Given the description of an element on the screen output the (x, y) to click on. 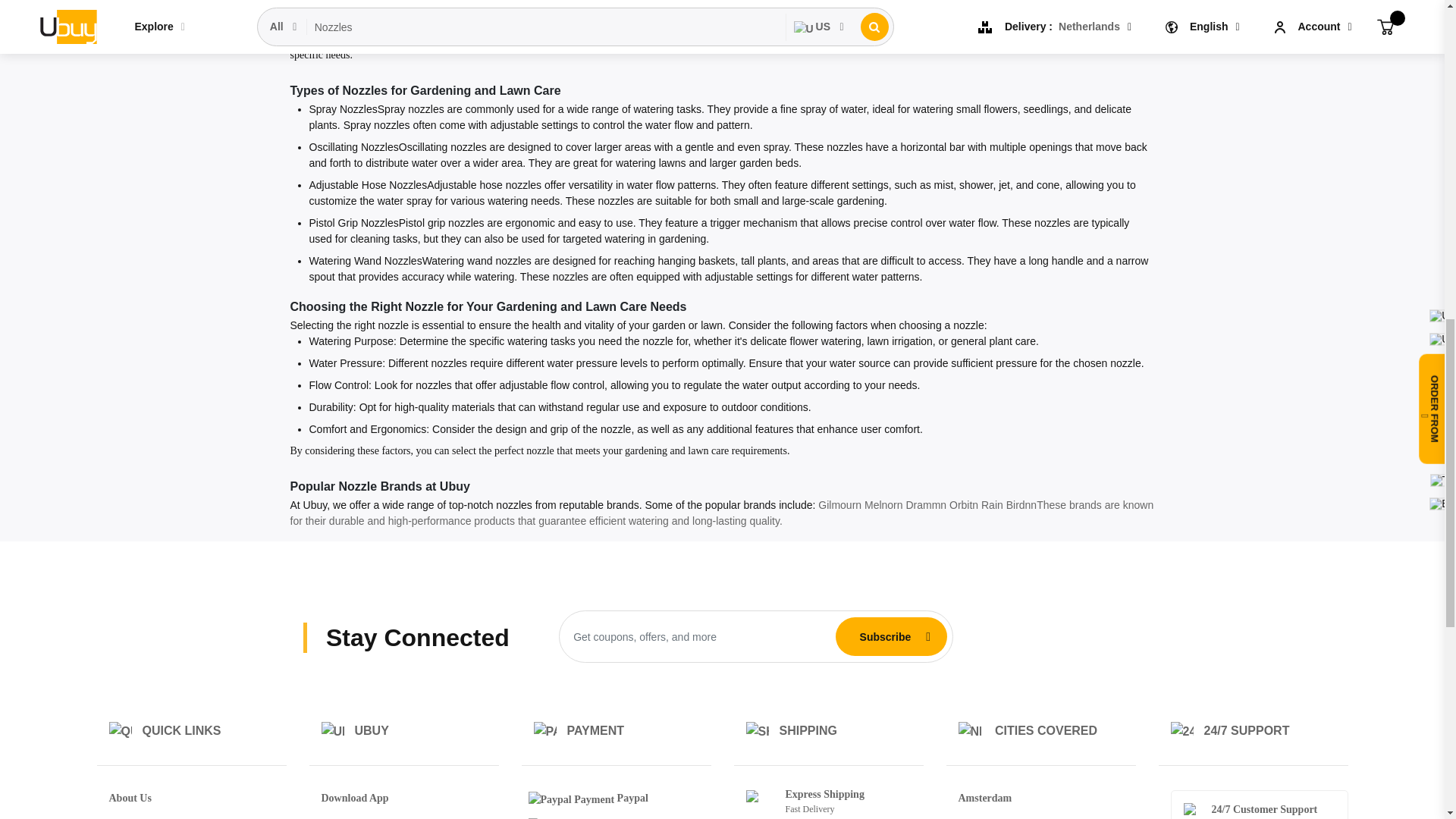
Subscribe (885, 636)
